Given the description of an element on the screen output the (x, y) to click on. 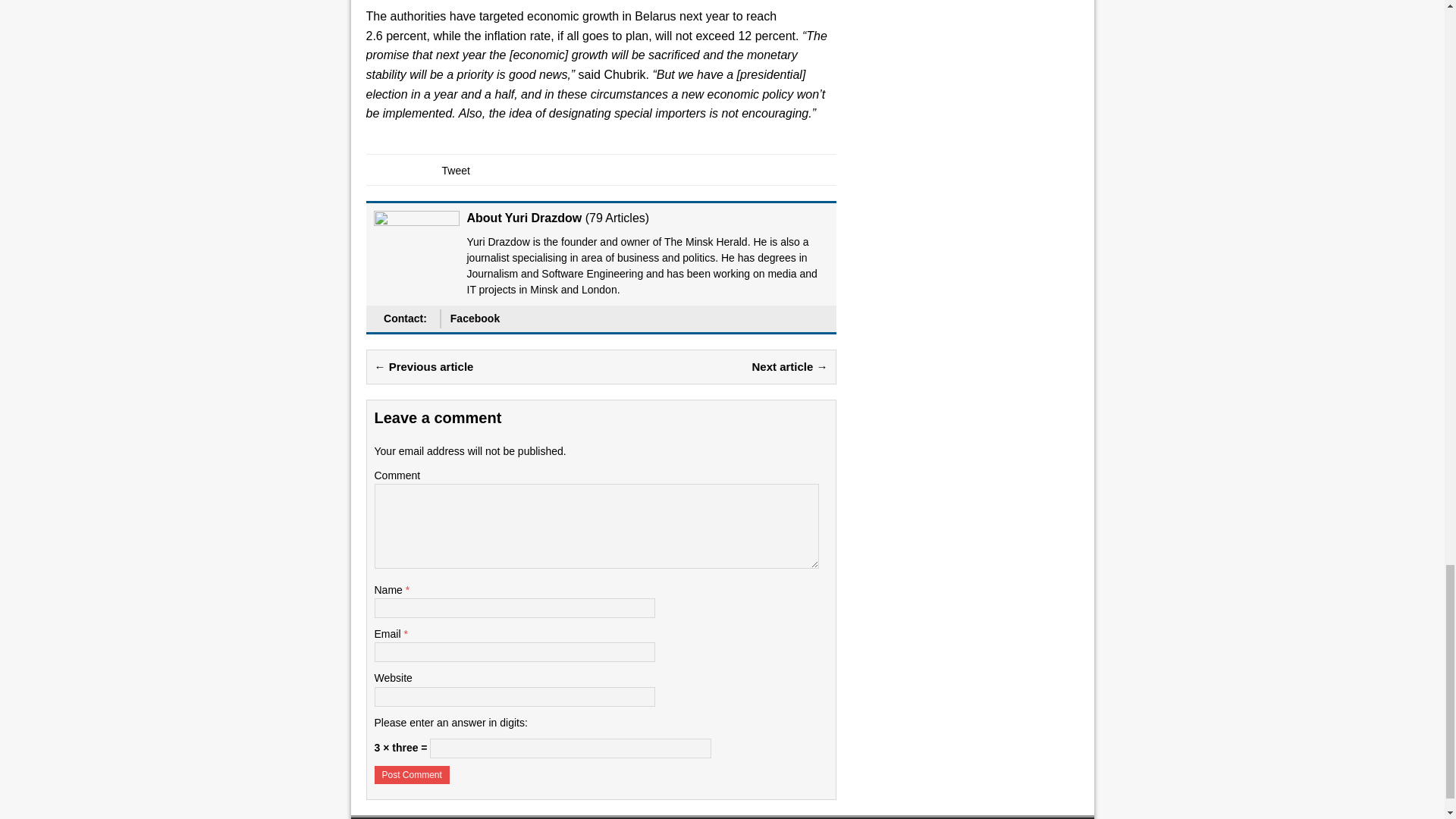
More articles written by Yuri Drazdow (617, 217)
79 Articles (617, 217)
Tweet (454, 170)
Follow Yuri Drazdow on Facebook (474, 318)
Post Comment (411, 774)
Facebook (474, 318)
